Given the description of an element on the screen output the (x, y) to click on. 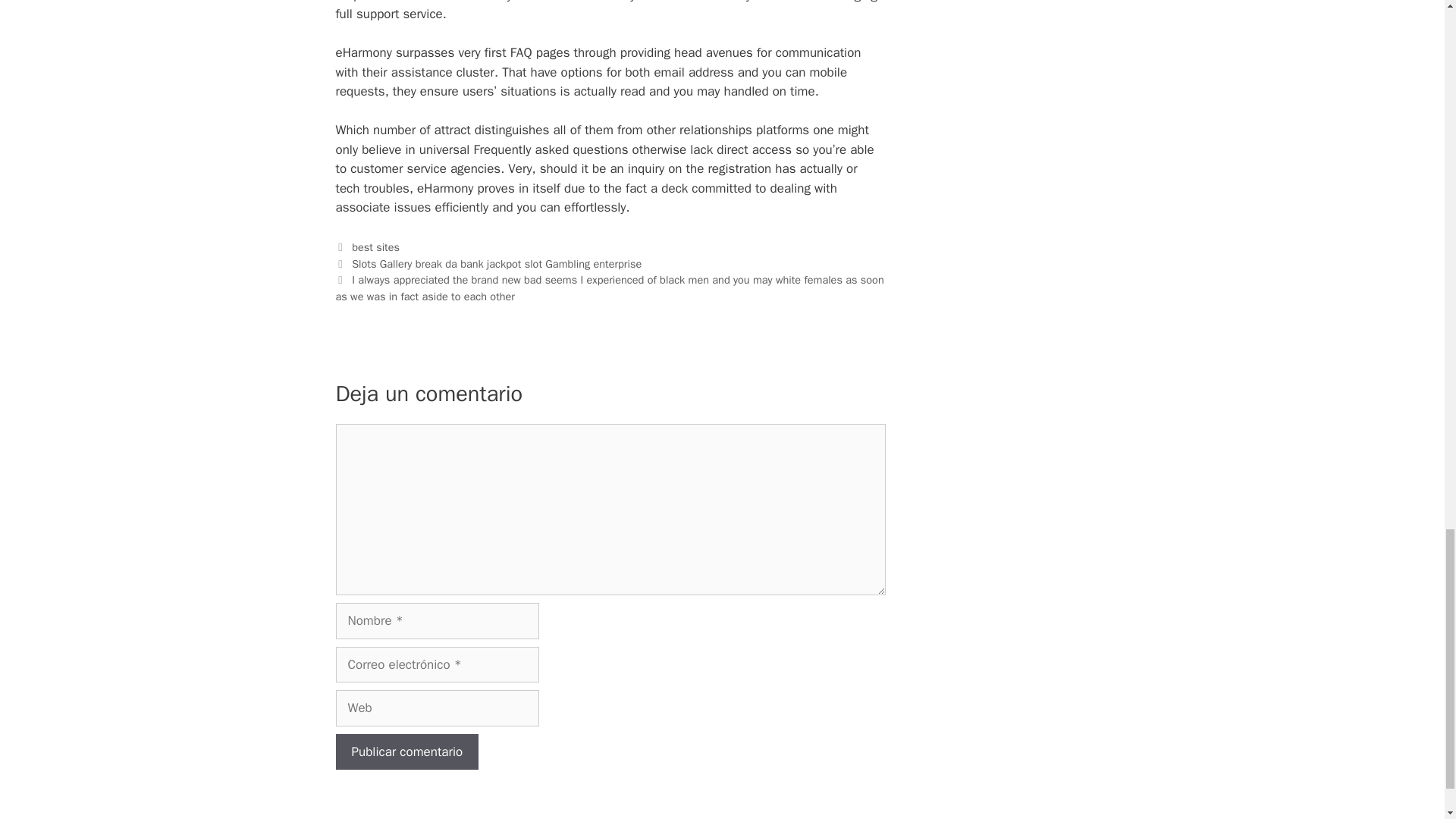
Publicar comentario (406, 751)
Publicar comentario (406, 751)
Slots Gallery break da bank jackpot slot Gambling enterprise (497, 264)
best sites (375, 246)
